Given the description of an element on the screen output the (x, y) to click on. 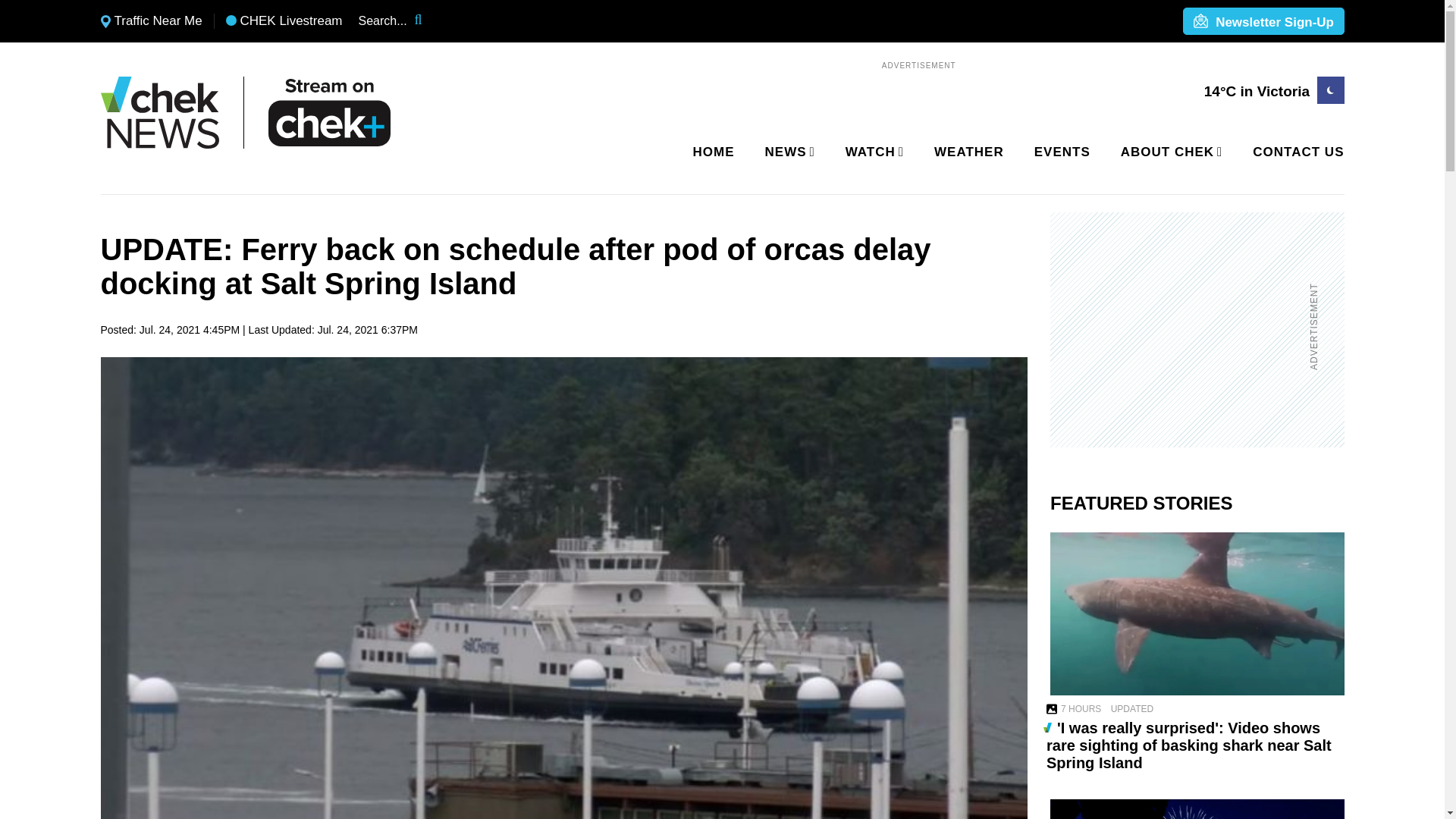
Traffic Near Me (151, 20)
CHEK Livestream (283, 20)
Newsletter Sign-Up (1262, 22)
Search (428, 21)
NEWS (787, 152)
HOME (714, 152)
